Given the description of an element on the screen output the (x, y) to click on. 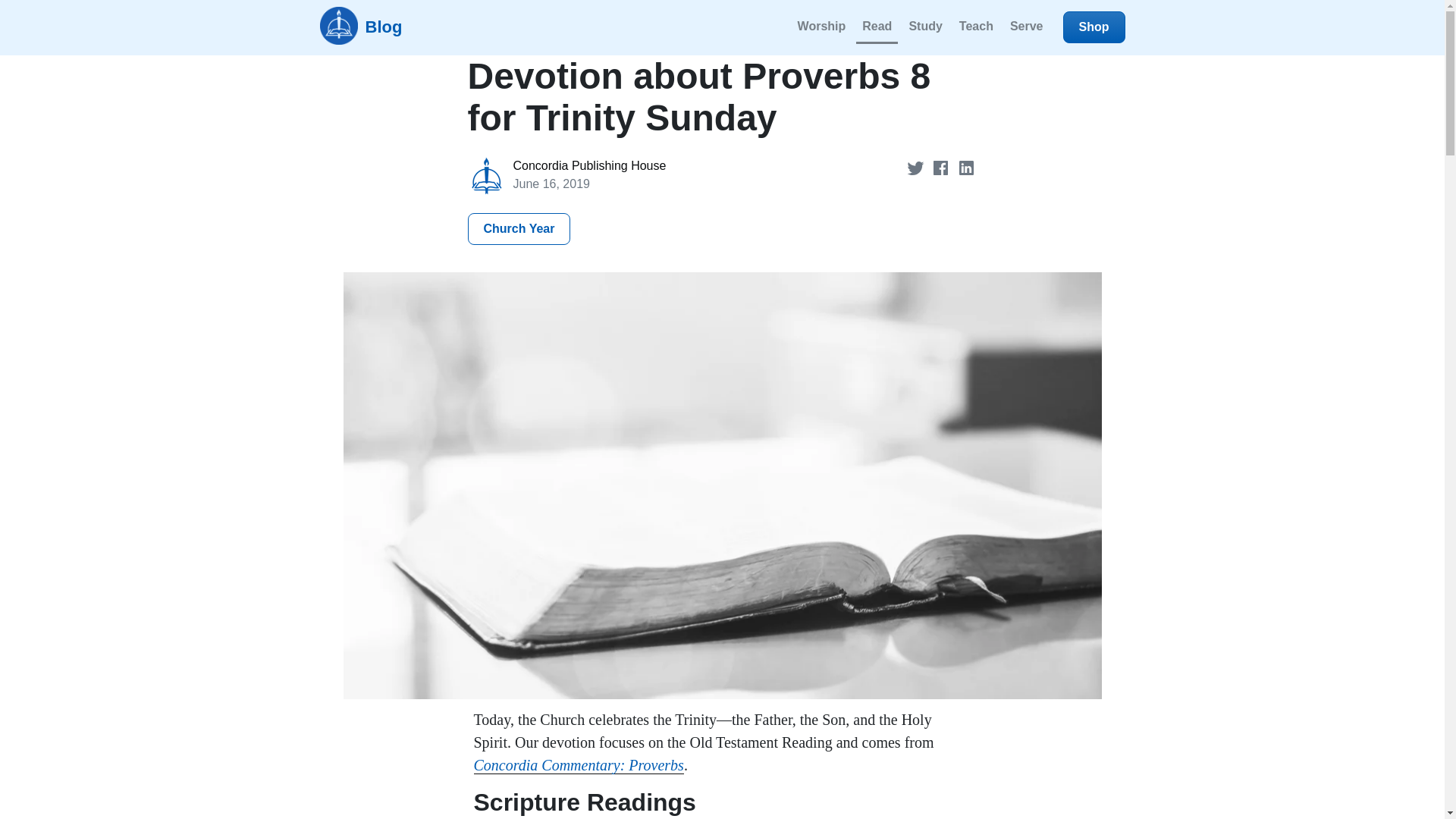
Share on Twitter (917, 166)
Share on LinkedIn (965, 166)
Blog (361, 27)
Share on LinkedIn (965, 166)
Share on Facebook (942, 166)
Shop (1093, 27)
Concordia Publishing House (588, 164)
Worship (821, 27)
Study (924, 27)
Share on Facebook (942, 166)
Church Year (518, 228)
Serve (1026, 27)
Teach (975, 27)
Share on Twitter (917, 166)
Read (877, 27)
